Given the description of an element on the screen output the (x, y) to click on. 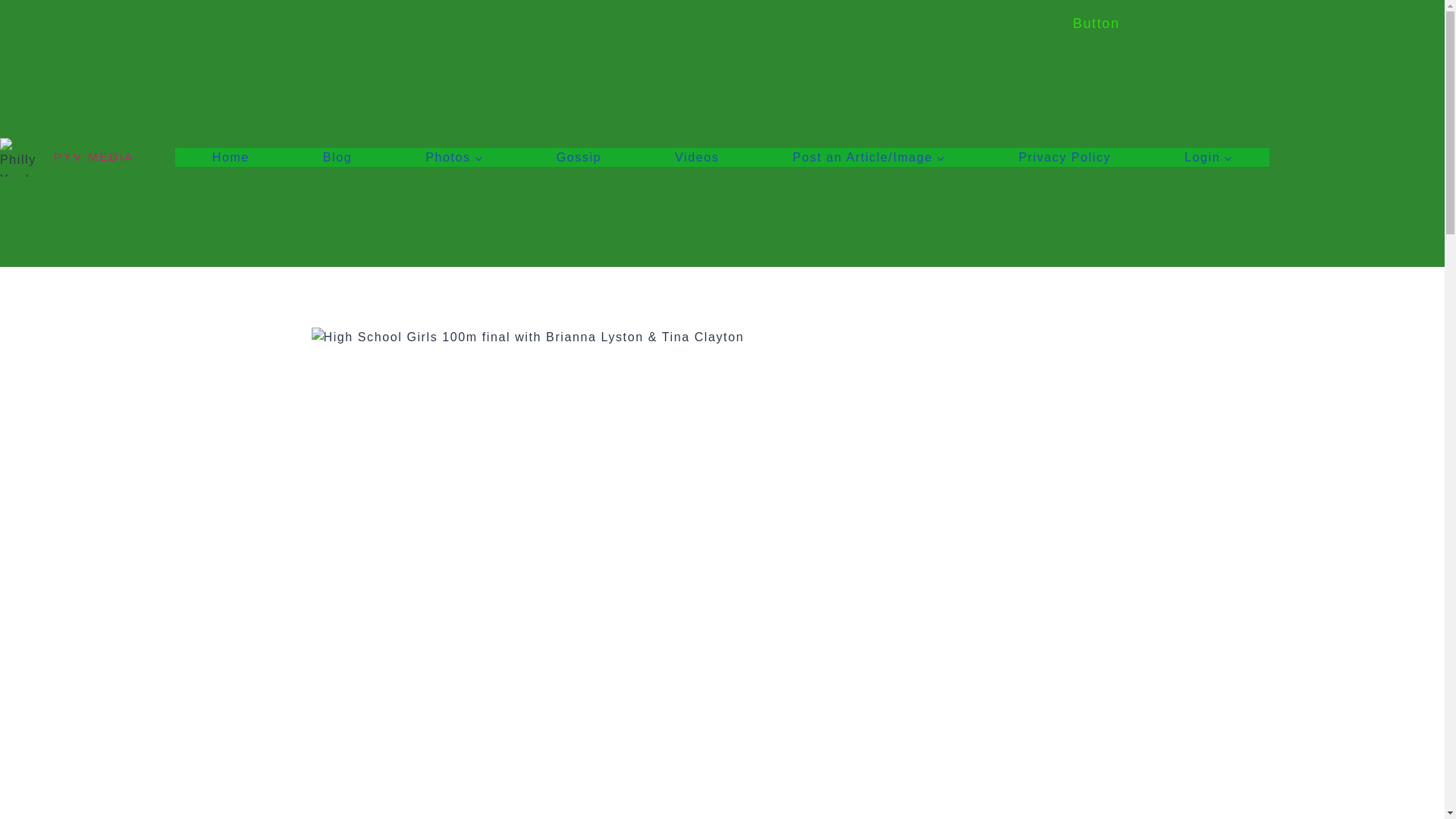
PYV MEDIA (66, 157)
Blog (336, 157)
Gossip (578, 157)
Videos (697, 157)
Privacy Policy (1064, 157)
Photos (453, 157)
Login (1208, 157)
Button (1096, 23)
Home (229, 157)
